Given the description of an element on the screen output the (x, y) to click on. 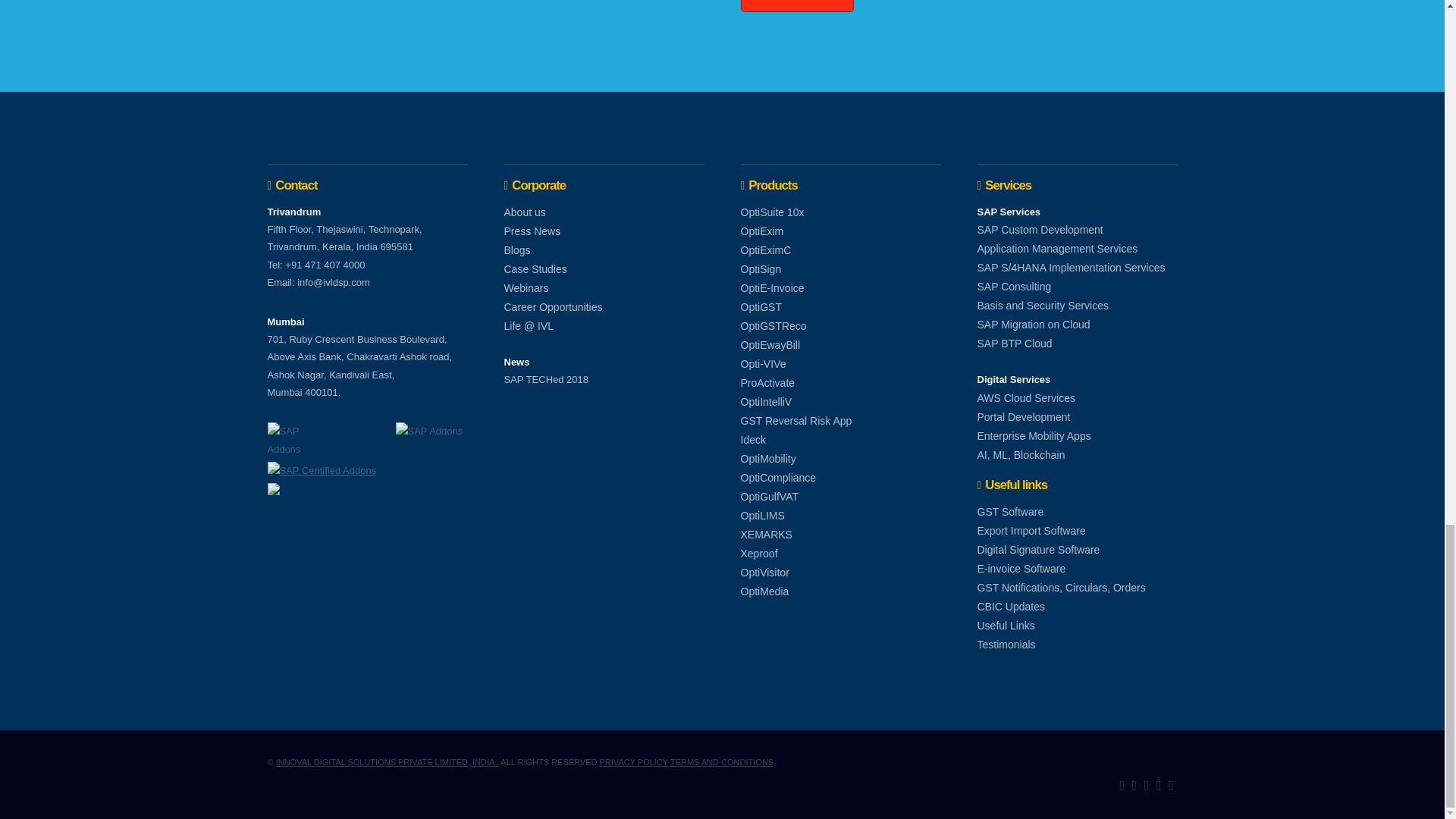
OptiGSTReco (772, 325)
OptiExim (761, 230)
Webinars (525, 288)
Search Jobs (796, 6)
Press News (531, 230)
Case Studies (534, 269)
About us (523, 212)
Search Jobs (796, 6)
Blogs (516, 249)
OptiSuite 10x (771, 212)
